Given the description of an element on the screen output the (x, y) to click on. 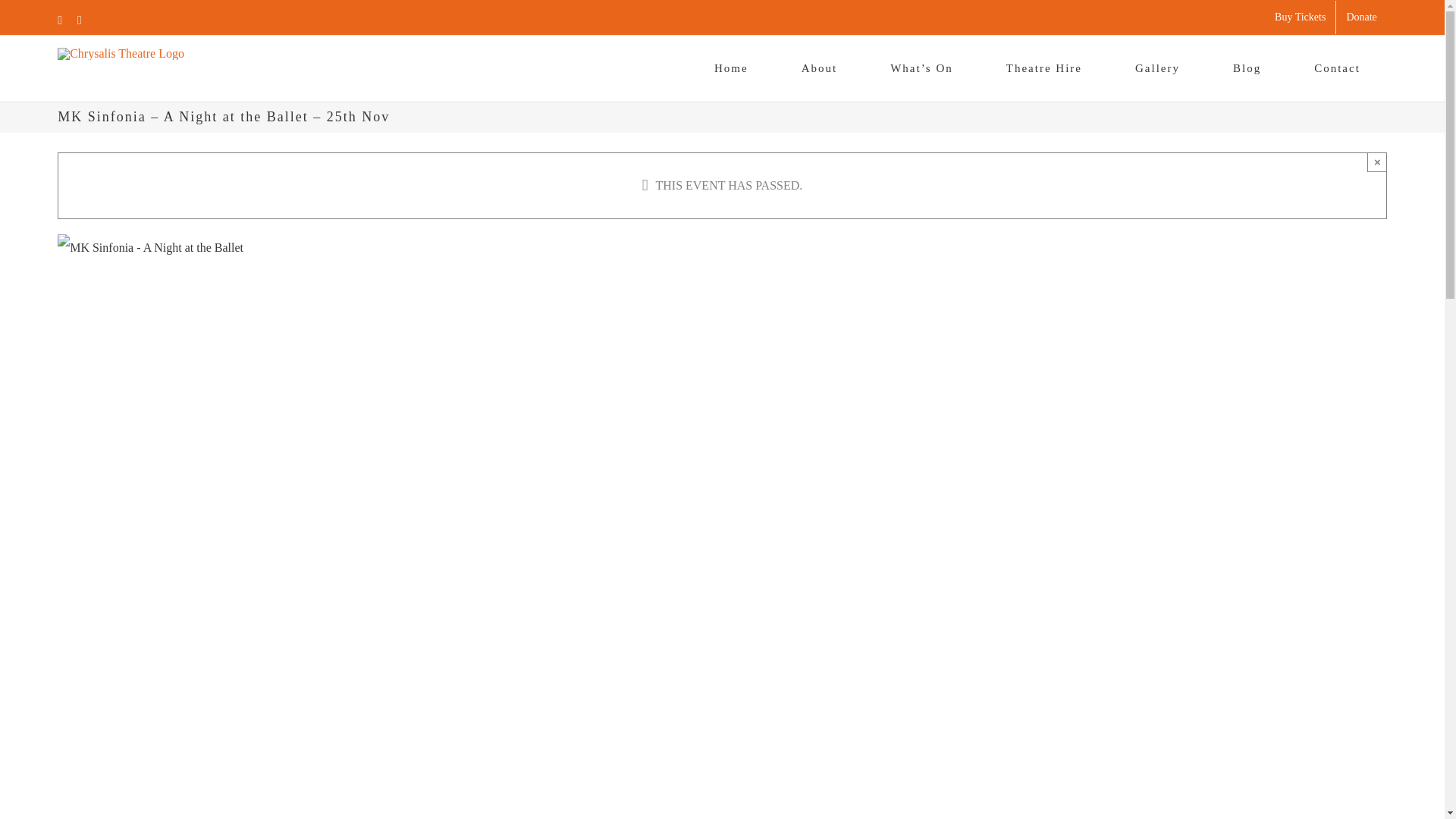
Buy Tickets (1300, 17)
Home (730, 68)
Donate (1361, 17)
Gallery (1157, 68)
Theatre Hire (1043, 68)
About (819, 68)
Blog (1247, 68)
Contact (1337, 68)
